Given the description of an element on the screen output the (x, y) to click on. 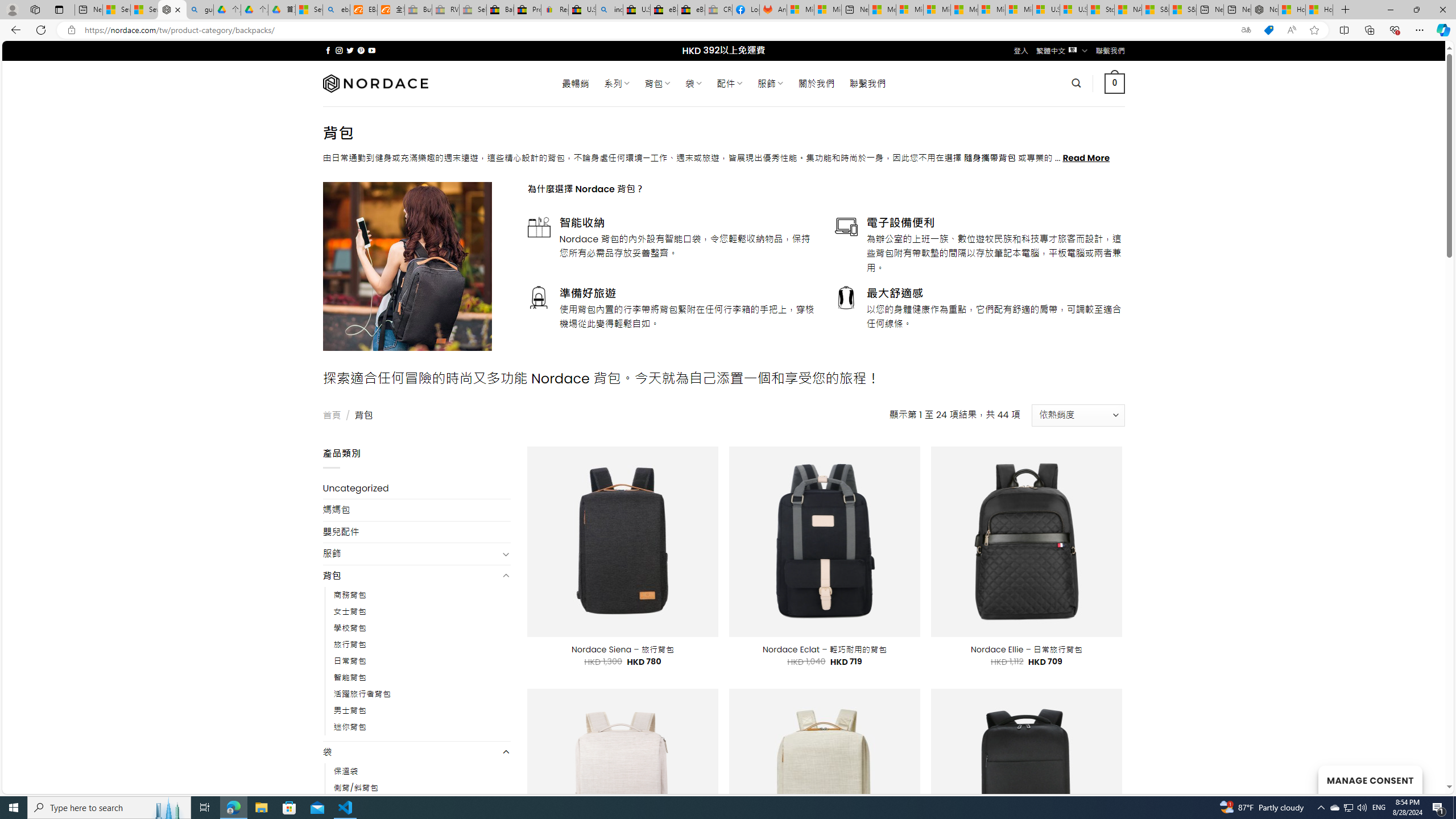
This site has coupons! Shopping in Microsoft Edge (1268, 29)
MANAGE CONSENT (1369, 779)
Microsoft account | Home (936, 9)
Address and search bar (658, 29)
